Given the description of an element on the screen output the (x, y) to click on. 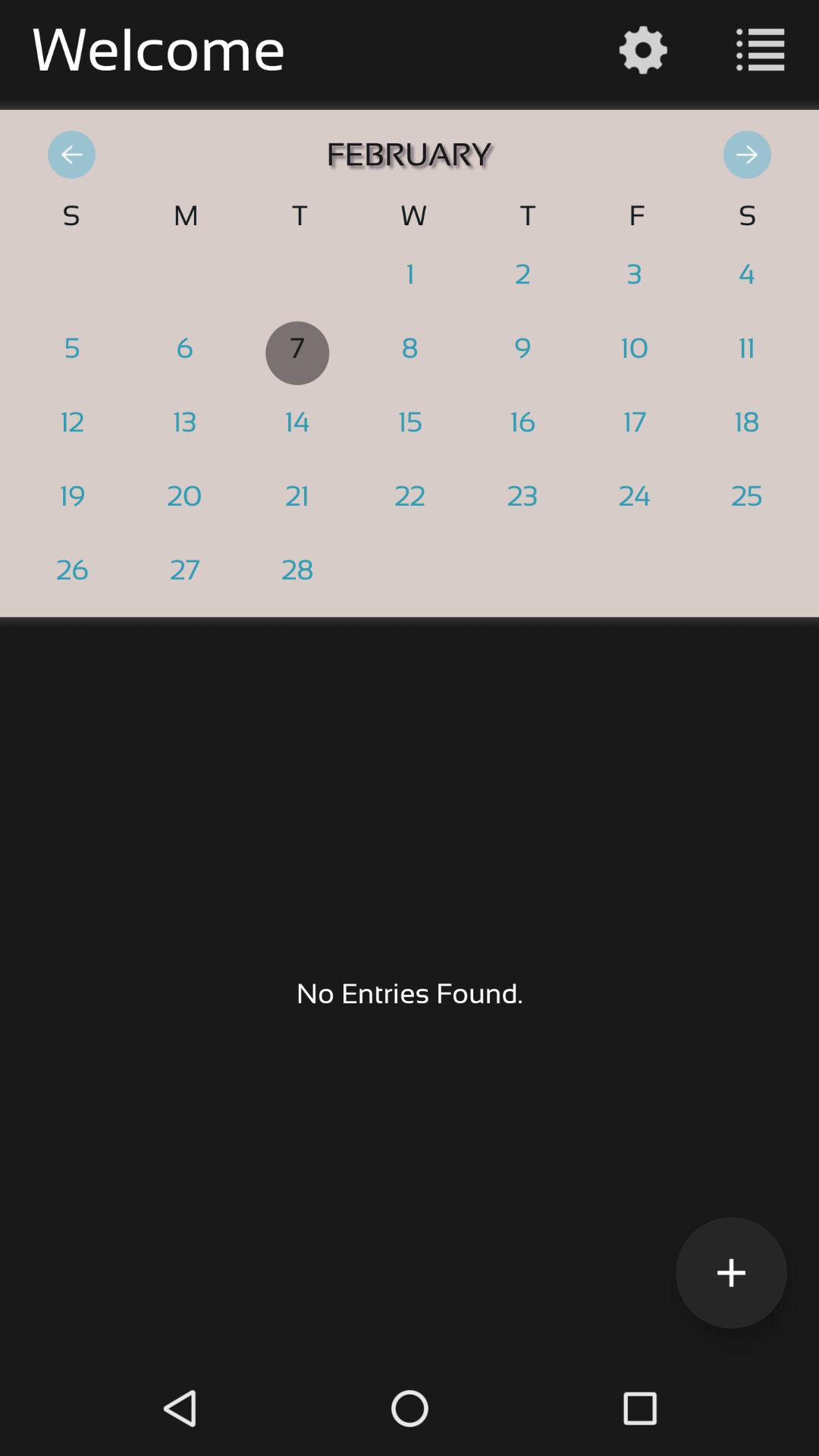
select the number 8 (409, 353)
select the number 10 (635, 353)
click on the forward arrow (755, 155)
select the number 2  below s (747, 279)
